Given the description of an element on the screen output the (x, y) to click on. 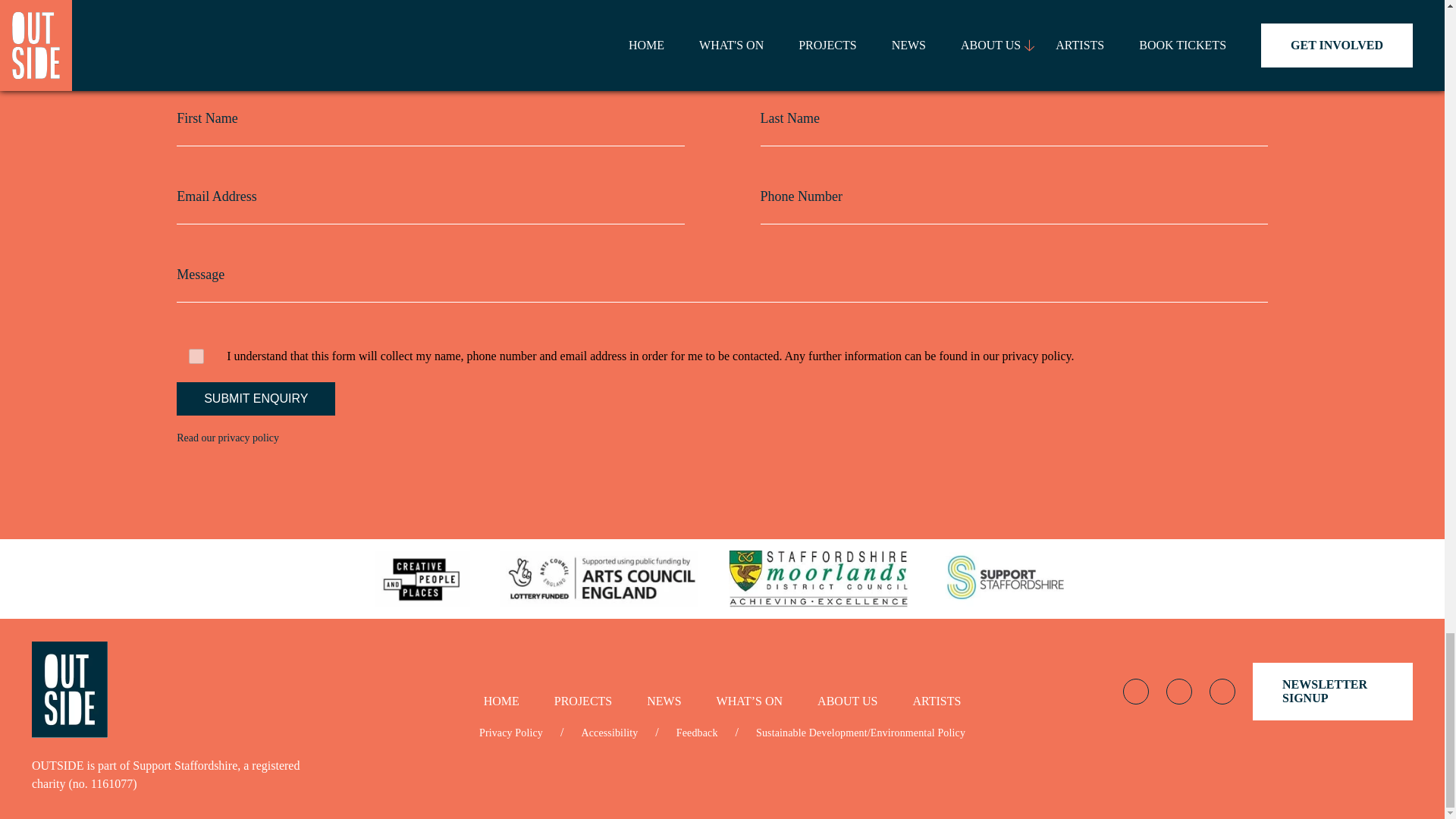
Submit Enquiry (255, 398)
Feedback (697, 732)
PROJECTS (582, 700)
NEWS (663, 700)
Accessibility (608, 732)
NEWSLETTER SIGNUP (1332, 691)
Privacy Policy (511, 732)
Submit Enquiry (255, 398)
HOME (501, 700)
ARTISTS (936, 700)
